Given the description of an element on the screen output the (x, y) to click on. 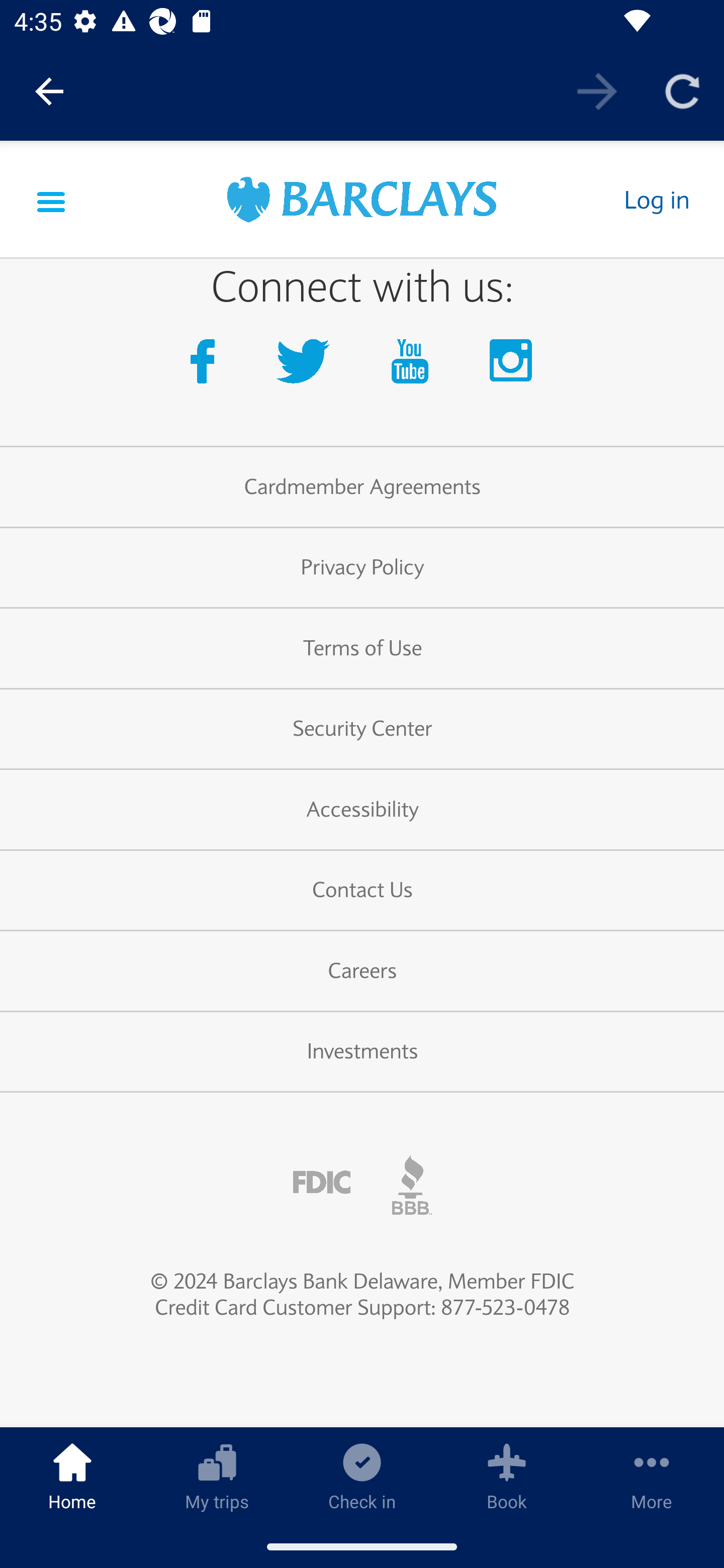
Navigate up (49, 91)
Forward (597, 90)
Reload (681, 90)
Menu (51, 199)
Log in (655, 199)
Barclays (362, 202)
Connect with Barclays US on Facebook (205, 366)
Follow Barclays US on Twitter (306, 366)
Watch Barclays US videos on YouTube (414, 366)
Follow Barclays US on Instagram (512, 366)
Cardmember Agreements (362, 488)
Privacy Policy (362, 568)
Terms of Use (362, 648)
Security Center (362, 729)
Accessibility (362, 810)
Contact Us (362, 891)
Careers (362, 972)
Investments (362, 1053)
Insured by the FDIC (321, 1183)
View the Better Business Bureau accreditation (411, 1185)
My trips (216, 1475)
Check in (361, 1475)
Book (506, 1475)
More (651, 1475)
